Given the description of an element on the screen output the (x, y) to click on. 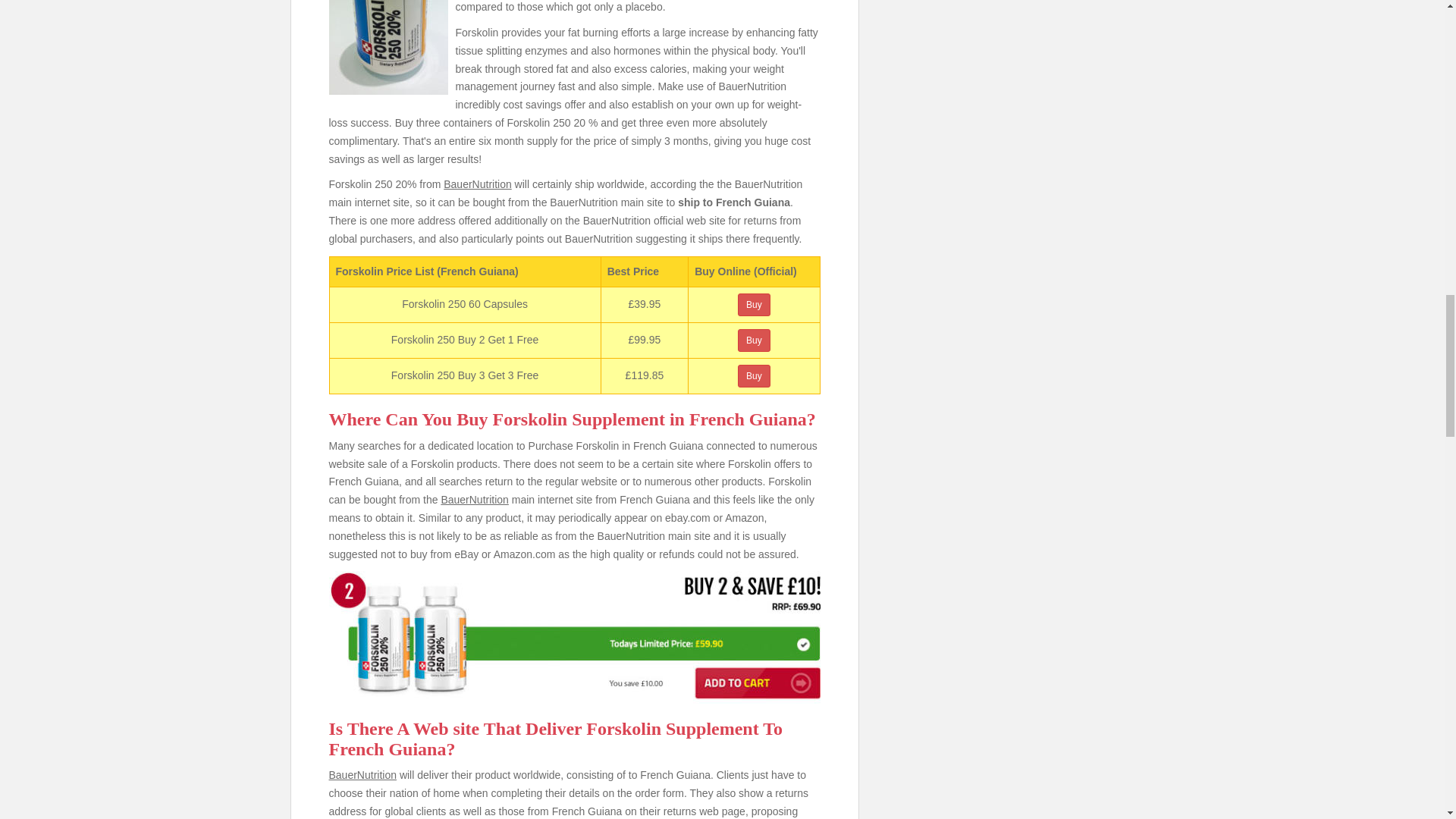
Where to Buy Forskolin in French Guiana (388, 47)
Where to Buy Forskolin in French Guiana (575, 636)
